Given the description of an element on the screen output the (x, y) to click on. 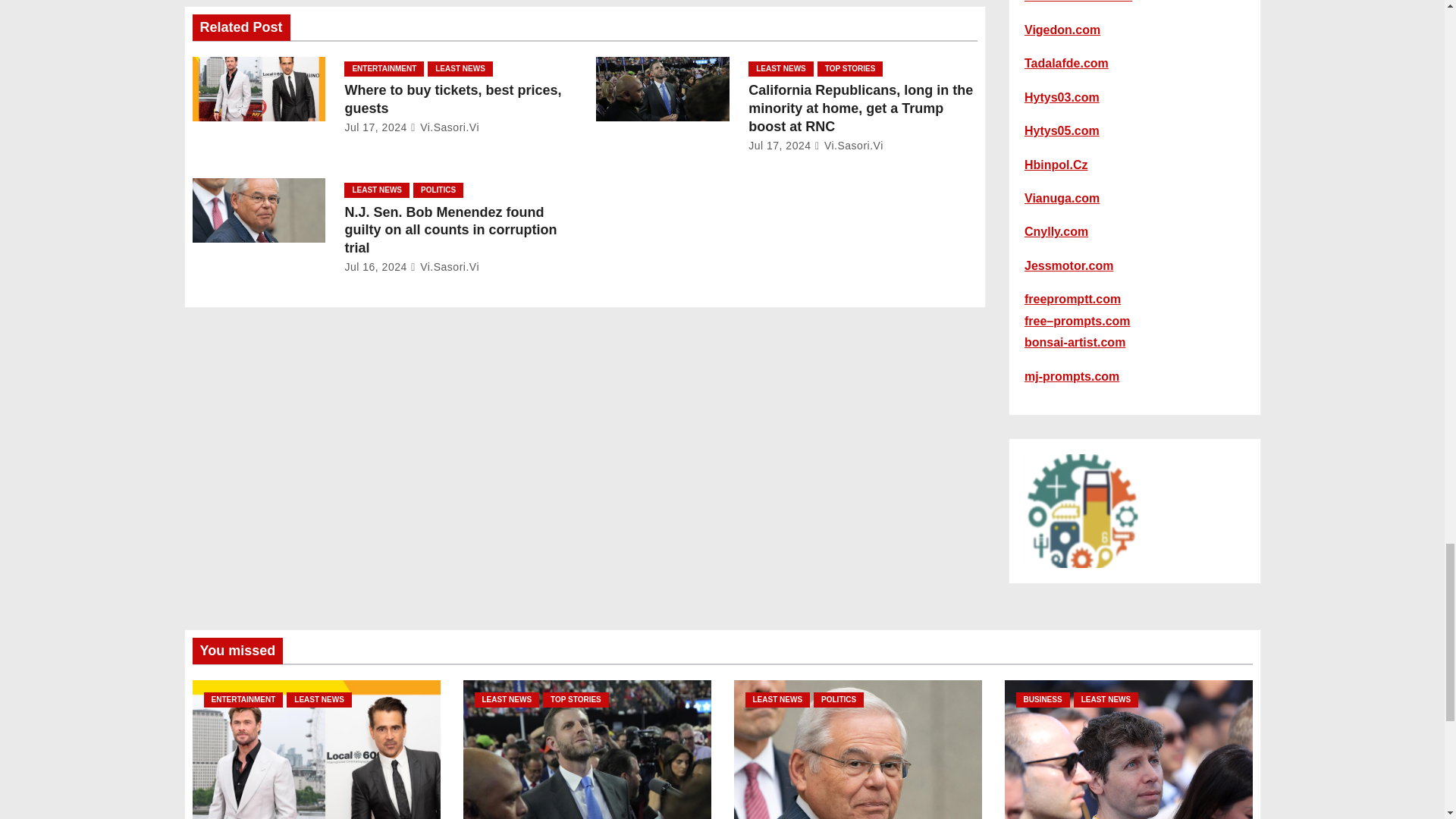
Permalink to: Where to buy tickets, best prices, guests (451, 99)
